Given the description of an element on the screen output the (x, y) to click on. 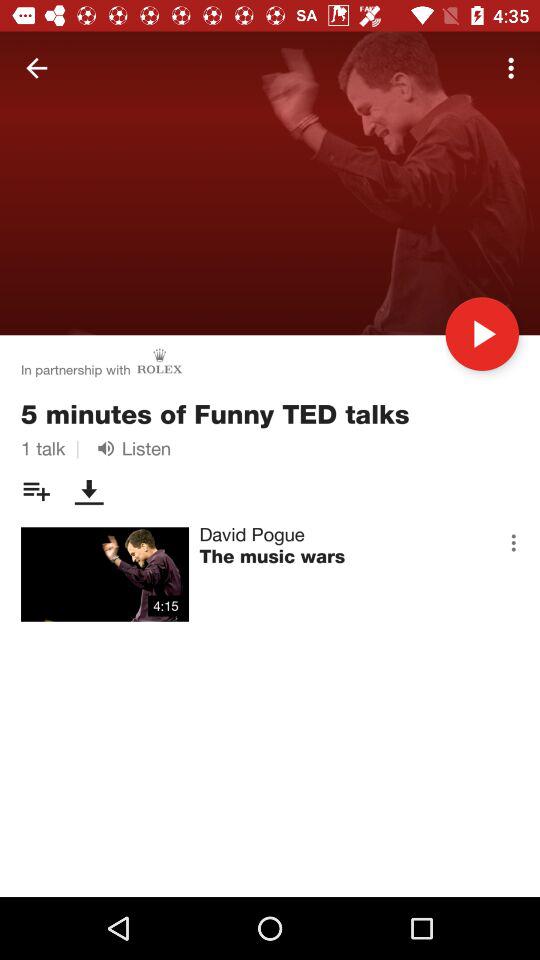
turn on icon to the right of the david pogue icon (513, 542)
